Given the description of an element on the screen output the (x, y) to click on. 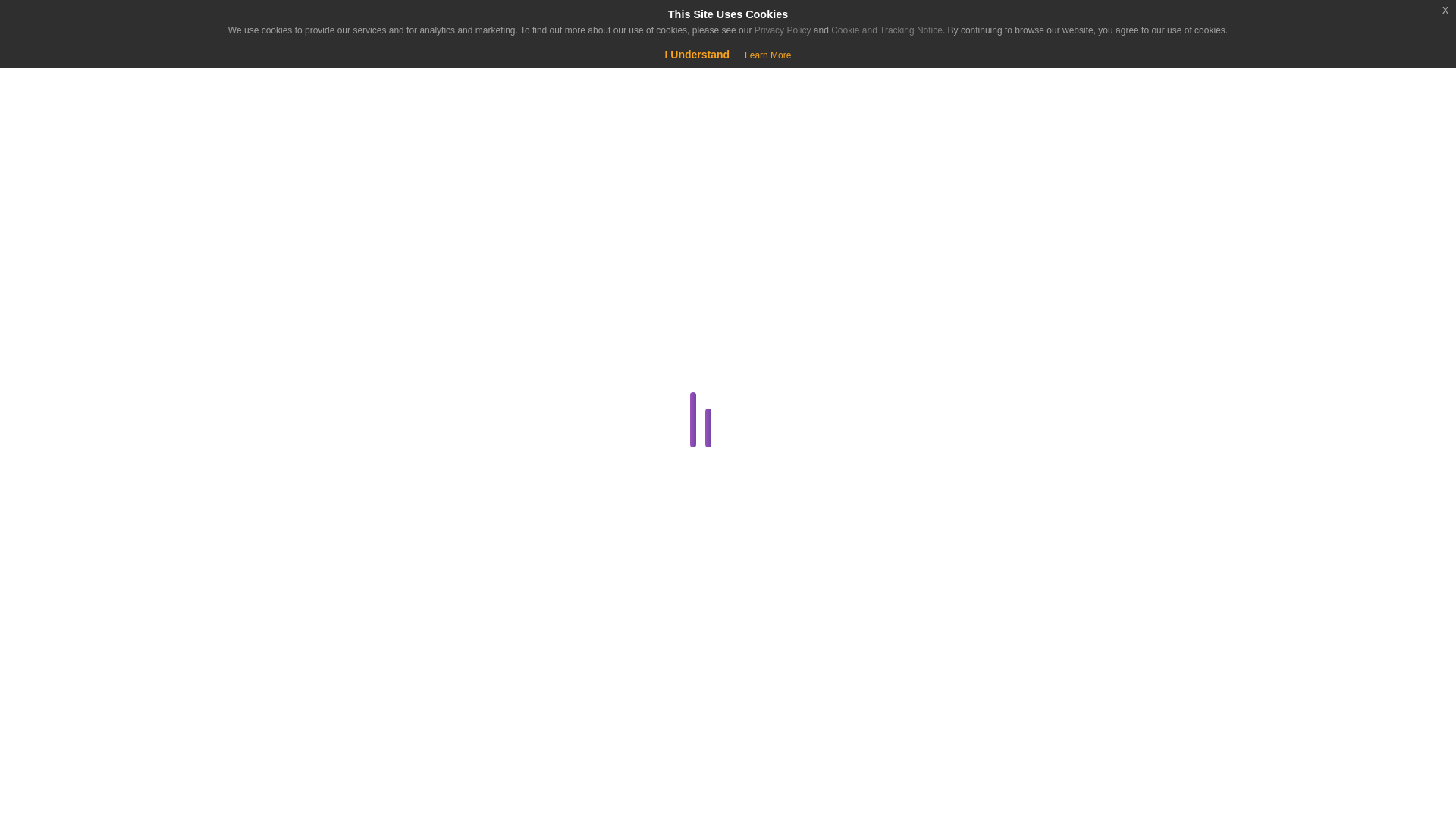
Domains API (283, 567)
Domains and DNS (281, 531)
Home (94, 138)
Qeydiyyat (129, 76)
Dedicated Server Guides (281, 495)
General (281, 677)
Hesab (93, 23)
Billing (281, 349)
Affiliates (283, 312)
FTP (283, 640)
Email (281, 604)
Linux Administration (281, 750)
Hosting Dashboard (281, 713)
Databases (281, 458)
cPanel (281, 422)
